Given the description of an element on the screen output the (x, y) to click on. 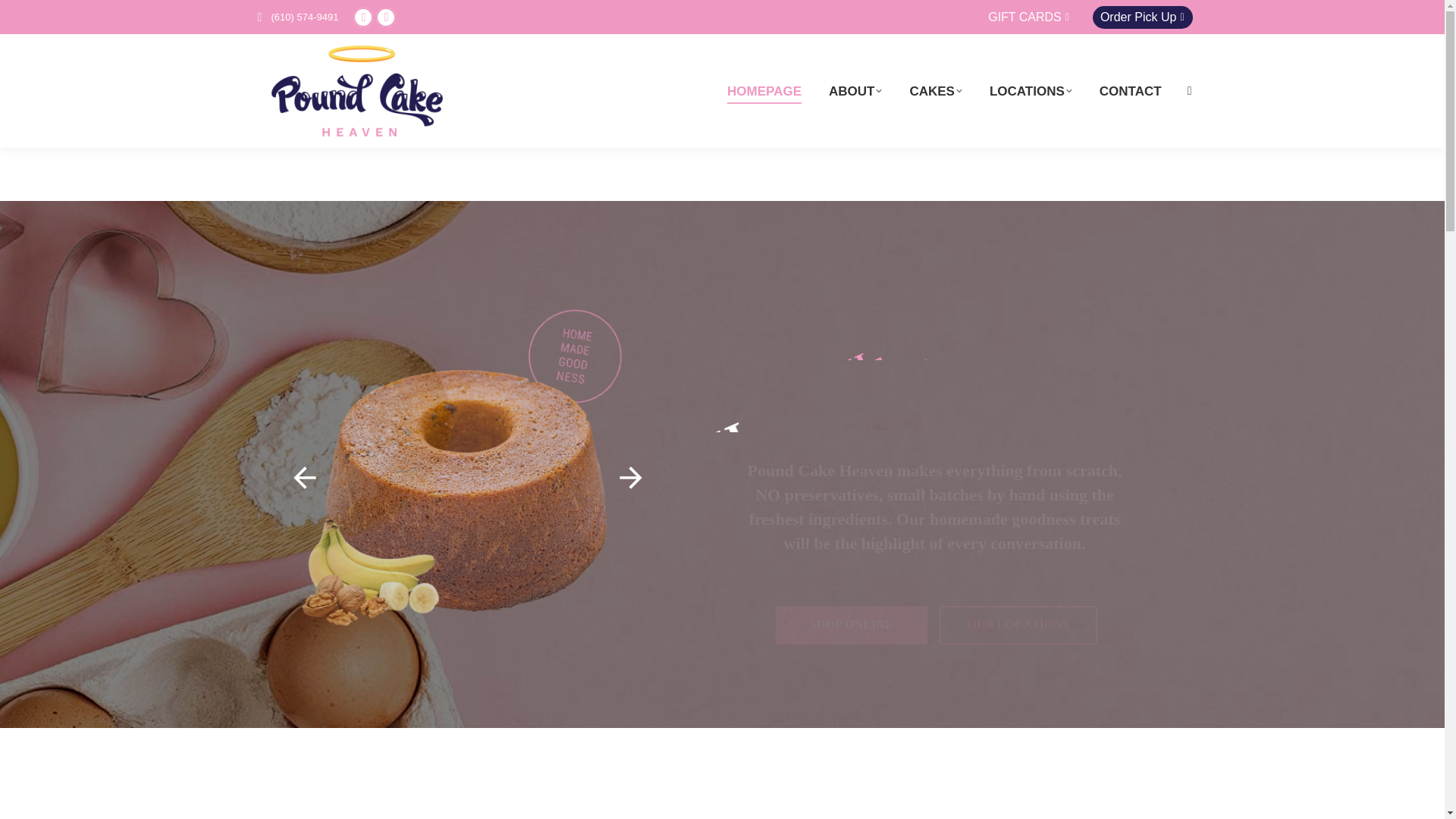
LOCATIONS (1031, 90)
Instagram page opens in new window (385, 17)
Facebook page opens in new window (362, 17)
Instagram page opens in new window (385, 17)
Order Pick Up (1142, 16)
GIFT CARDS (1028, 16)
Facebook page opens in new window (362, 17)
HOMEPAGE (764, 90)
